Given the description of an element on the screen output the (x, y) to click on. 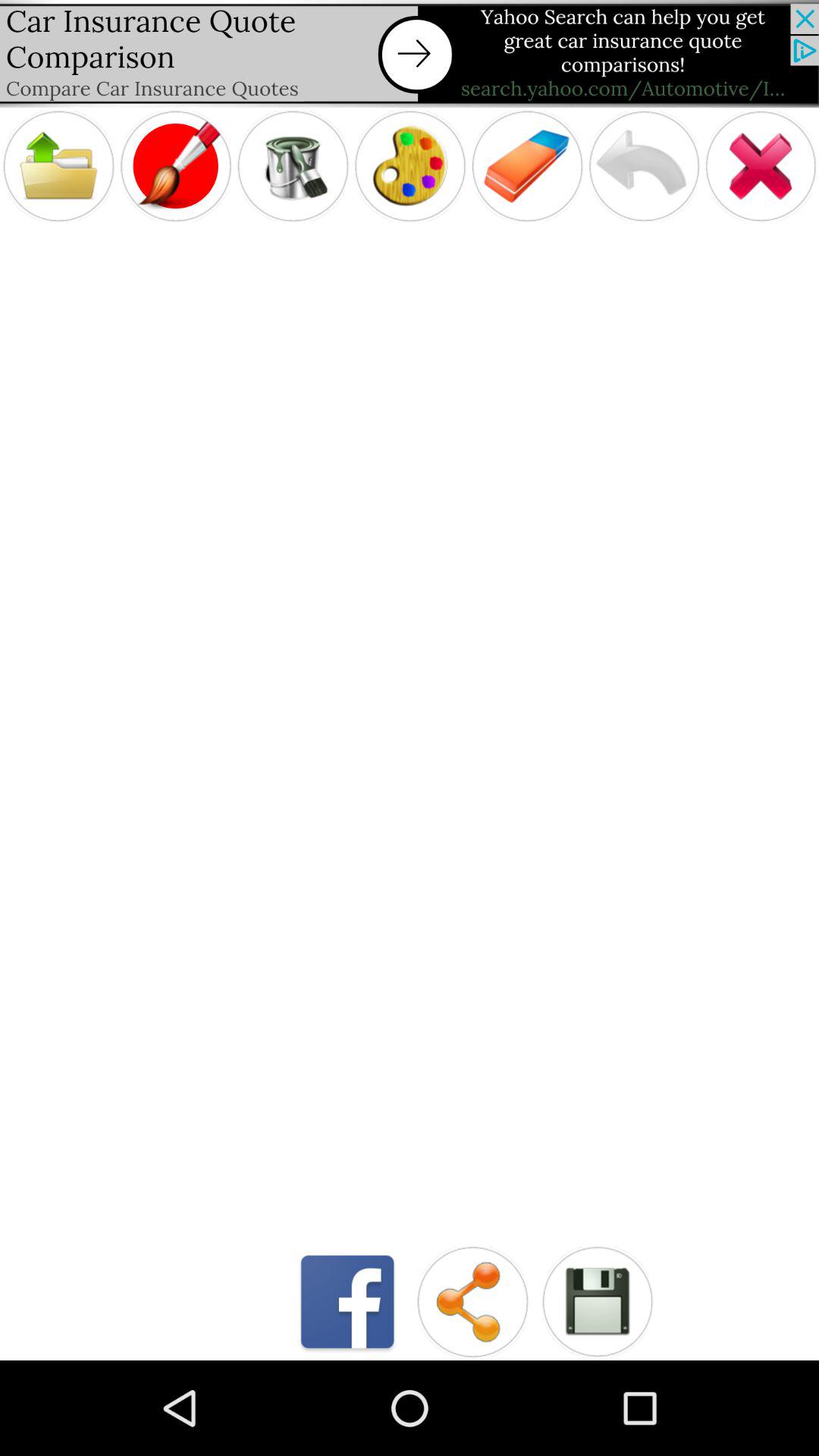
the menu bar (58, 165)
